Given the description of an element on the screen output the (x, y) to click on. 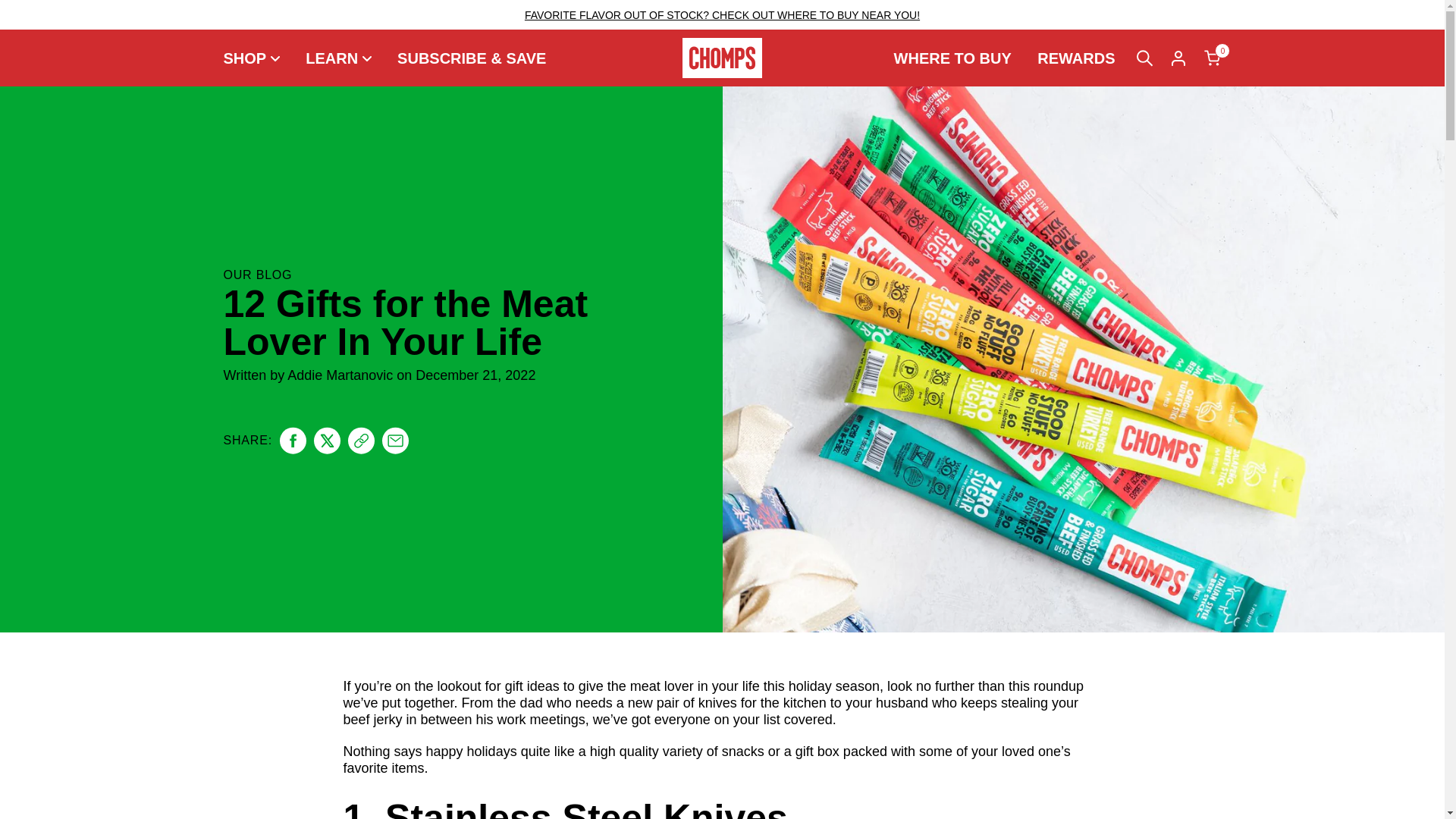
Where to buy (952, 57)
SHOP (255, 57)
Chomps  Logo (721, 57)
Account (1178, 57)
Rewards (1075, 57)
